Given the description of an element on the screen output the (x, y) to click on. 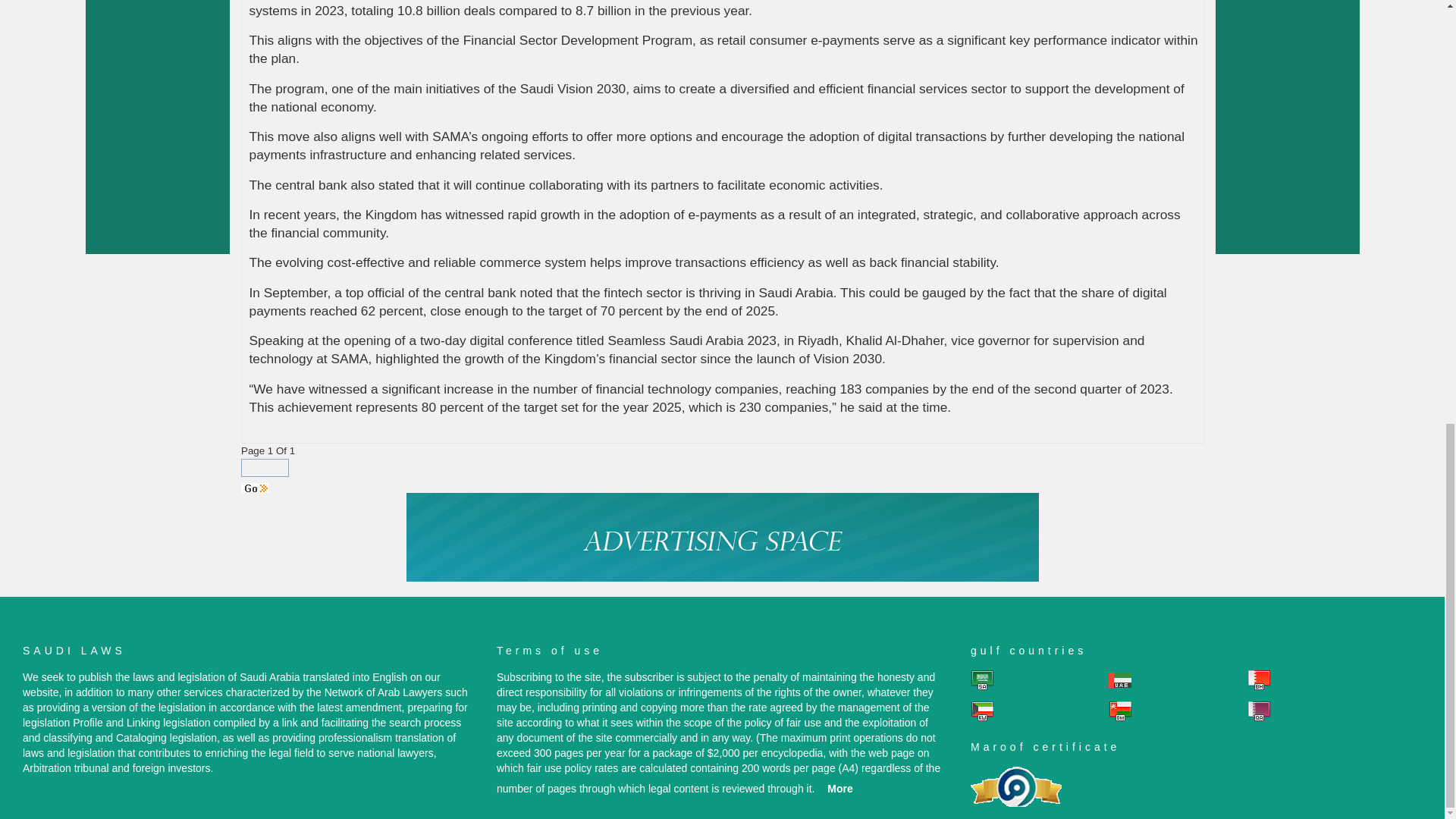
More (838, 789)
